Given the description of an element on the screen output the (x, y) to click on. 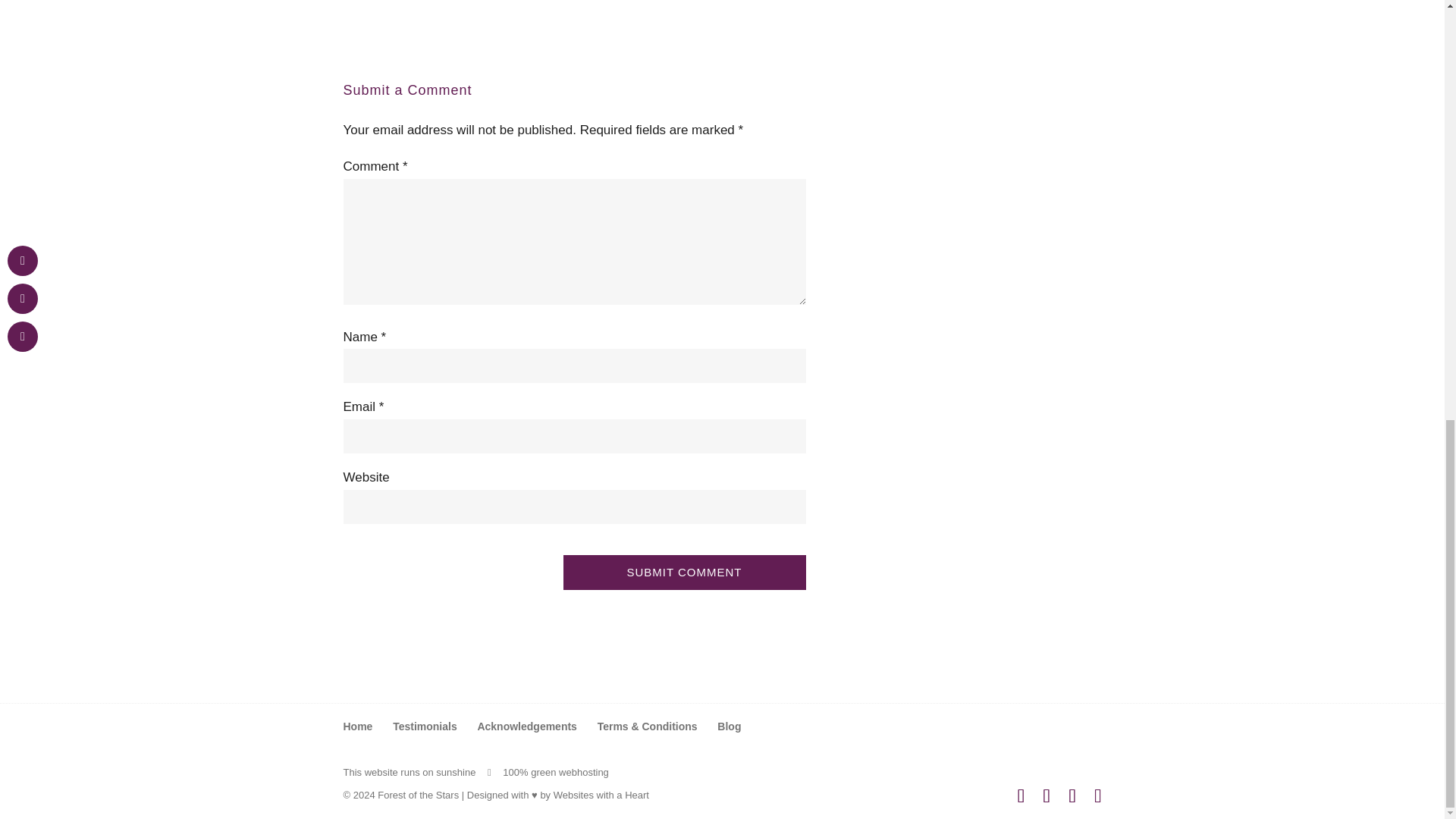
Submit Comment (683, 572)
Home (357, 726)
Blog (729, 726)
Forest of the Stars (417, 794)
Testimonials (425, 726)
Acknowledgements (526, 726)
Submit Comment (683, 572)
Websites with a Heart (601, 794)
